Given the description of an element on the screen output the (x, y) to click on. 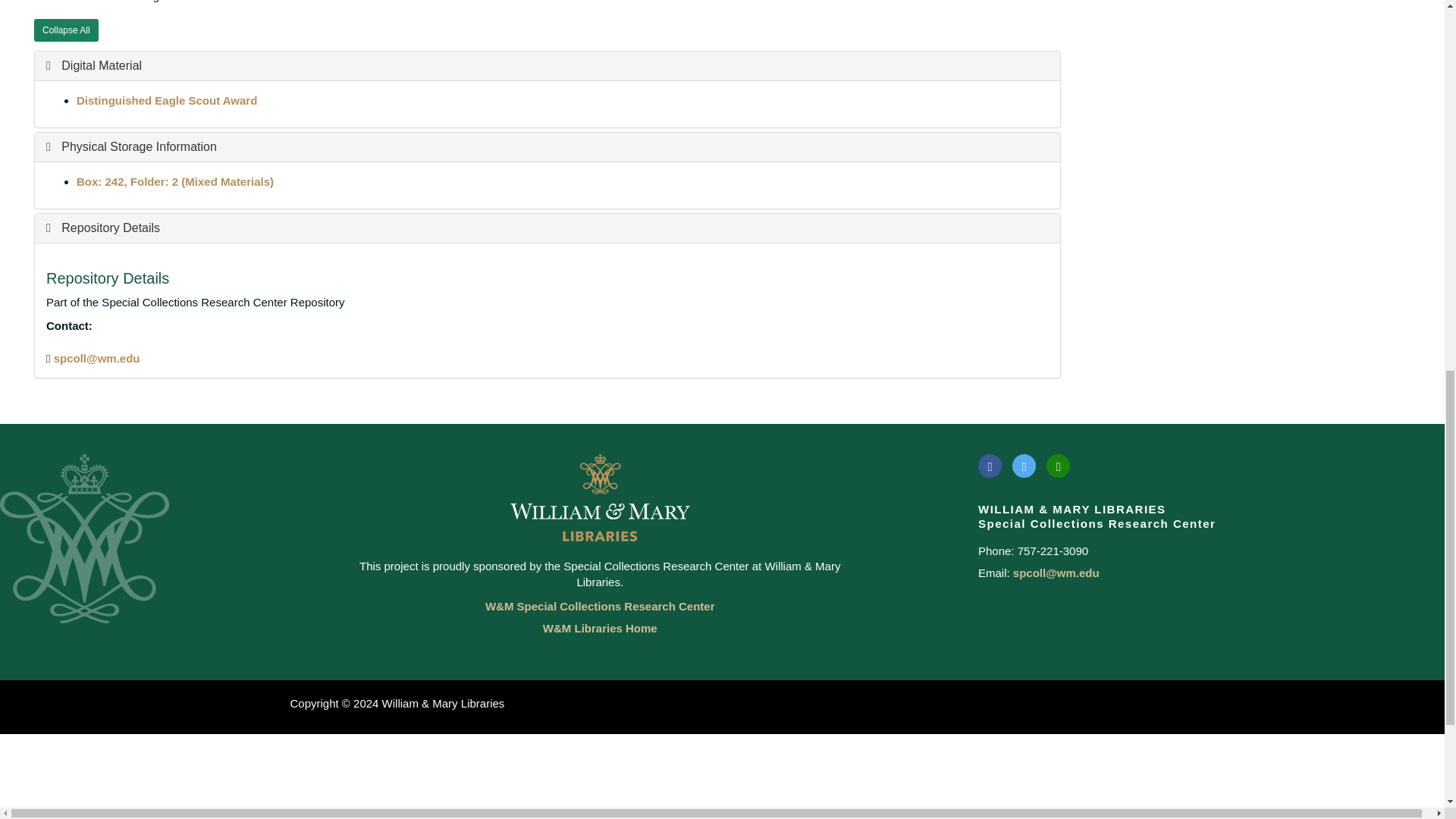
Special Collections Facebook (989, 465)
Special Collections Blog (1058, 465)
Distinguished Eagle Scout Award (167, 100)
Digital Material (93, 65)
Repository Details (103, 227)
Collapse All (66, 29)
Physical Storage Information (131, 146)
Special Collections Twitter (1023, 465)
Send email (96, 358)
